Given the description of an element on the screen output the (x, y) to click on. 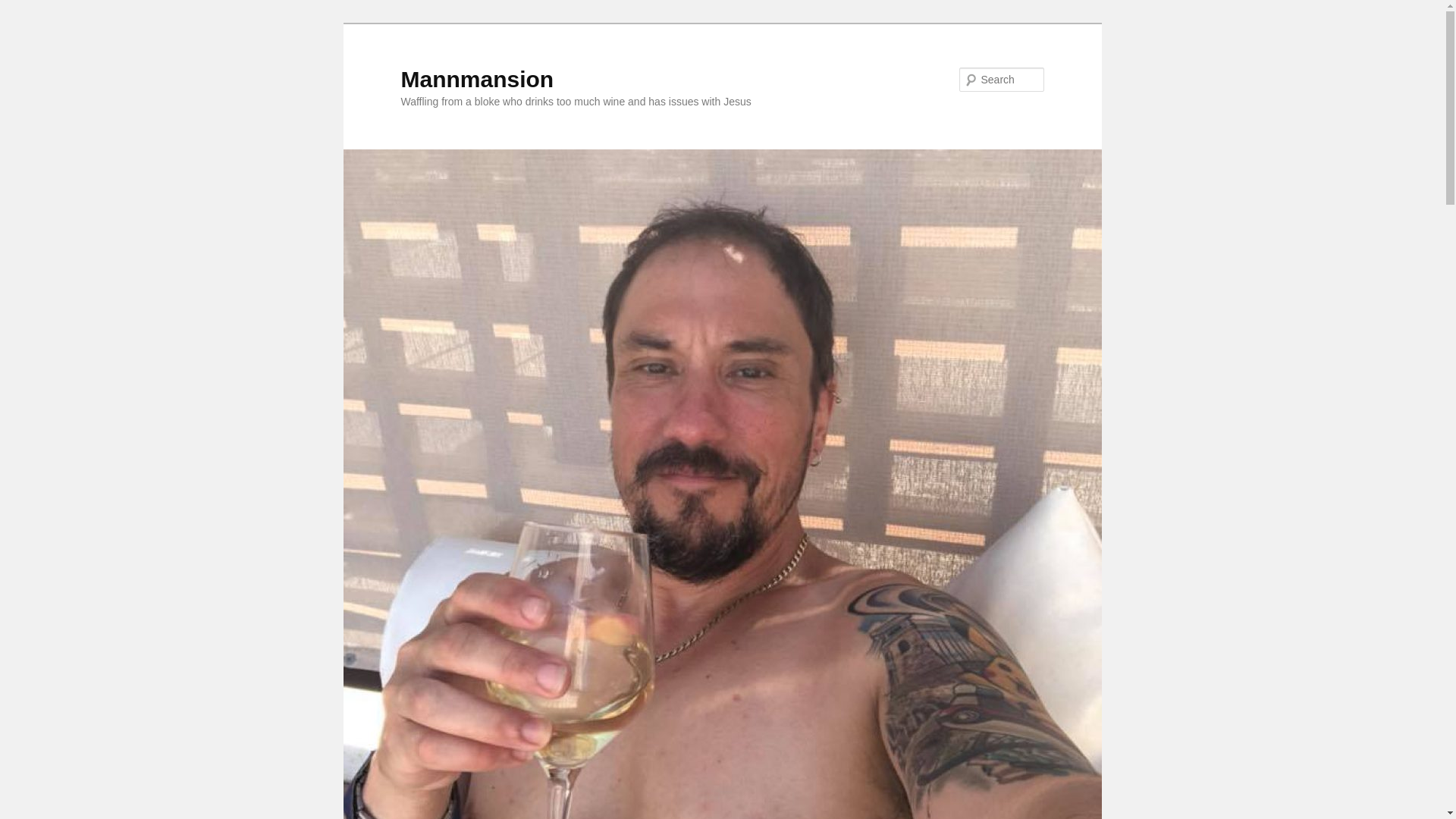
Search (21, 11)
Mannmansion (476, 78)
Search (24, 8)
